Given the description of an element on the screen output the (x, y) to click on. 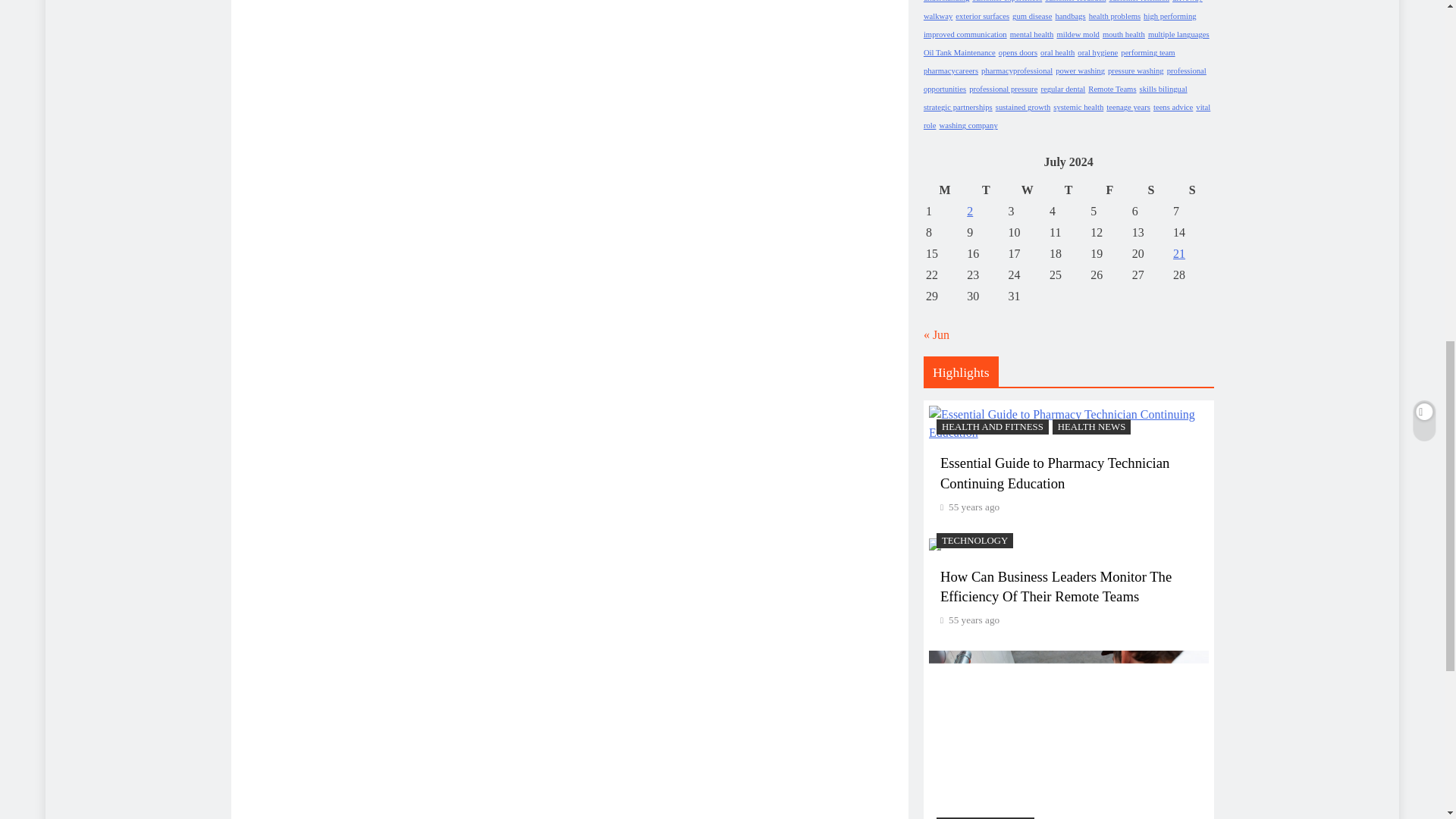
Friday (1109, 189)
Wednesday (1026, 189)
Tuesday (986, 189)
Monday (943, 189)
Saturday (1150, 189)
Essential Guide to Pharmacy Technician Continuing Education (1068, 423)
Thursday (1067, 189)
Sunday (1191, 189)
